Given the description of an element on the screen output the (x, y) to click on. 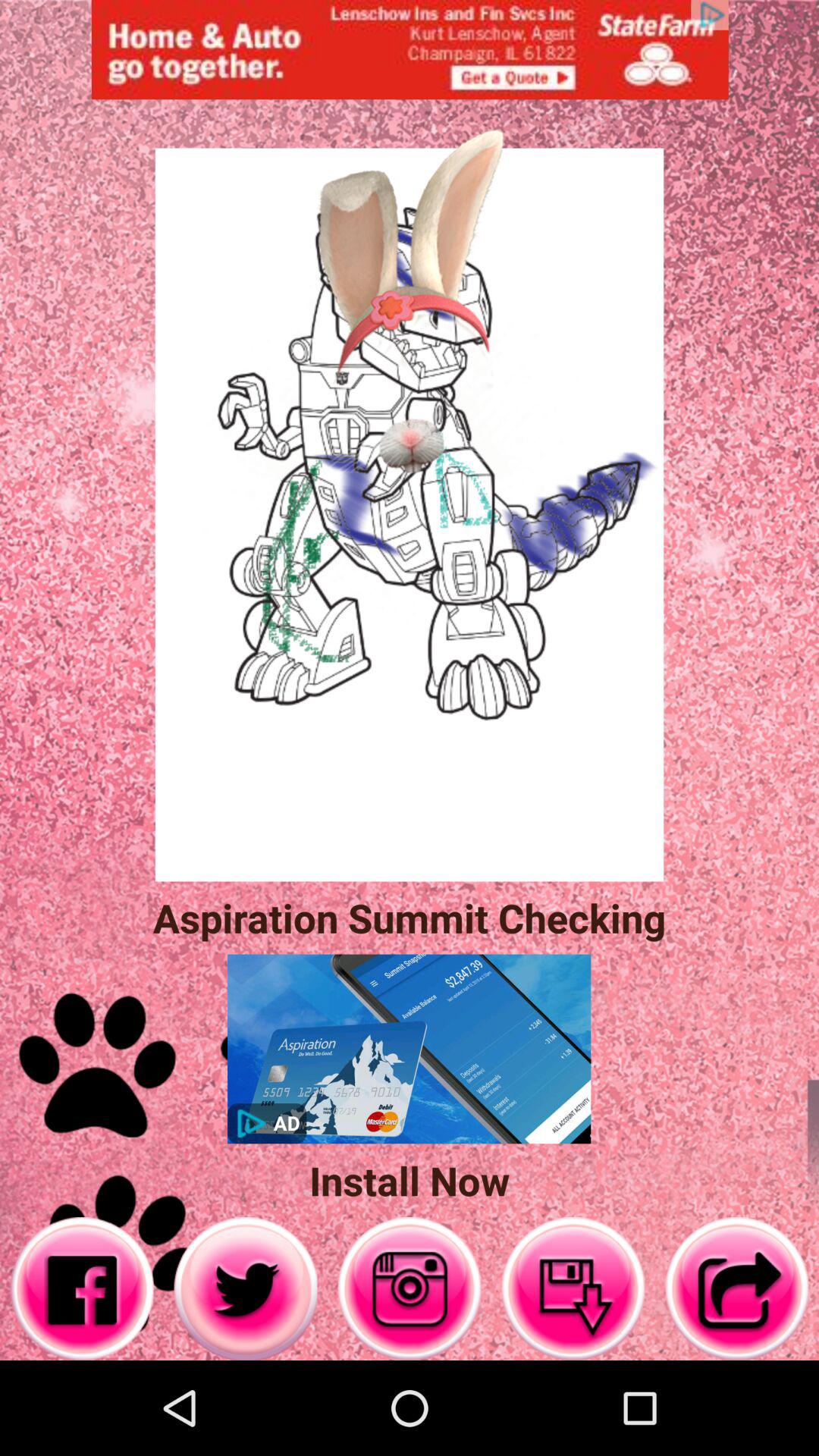
facebook (81, 1288)
